Given the description of an element on the screen output the (x, y) to click on. 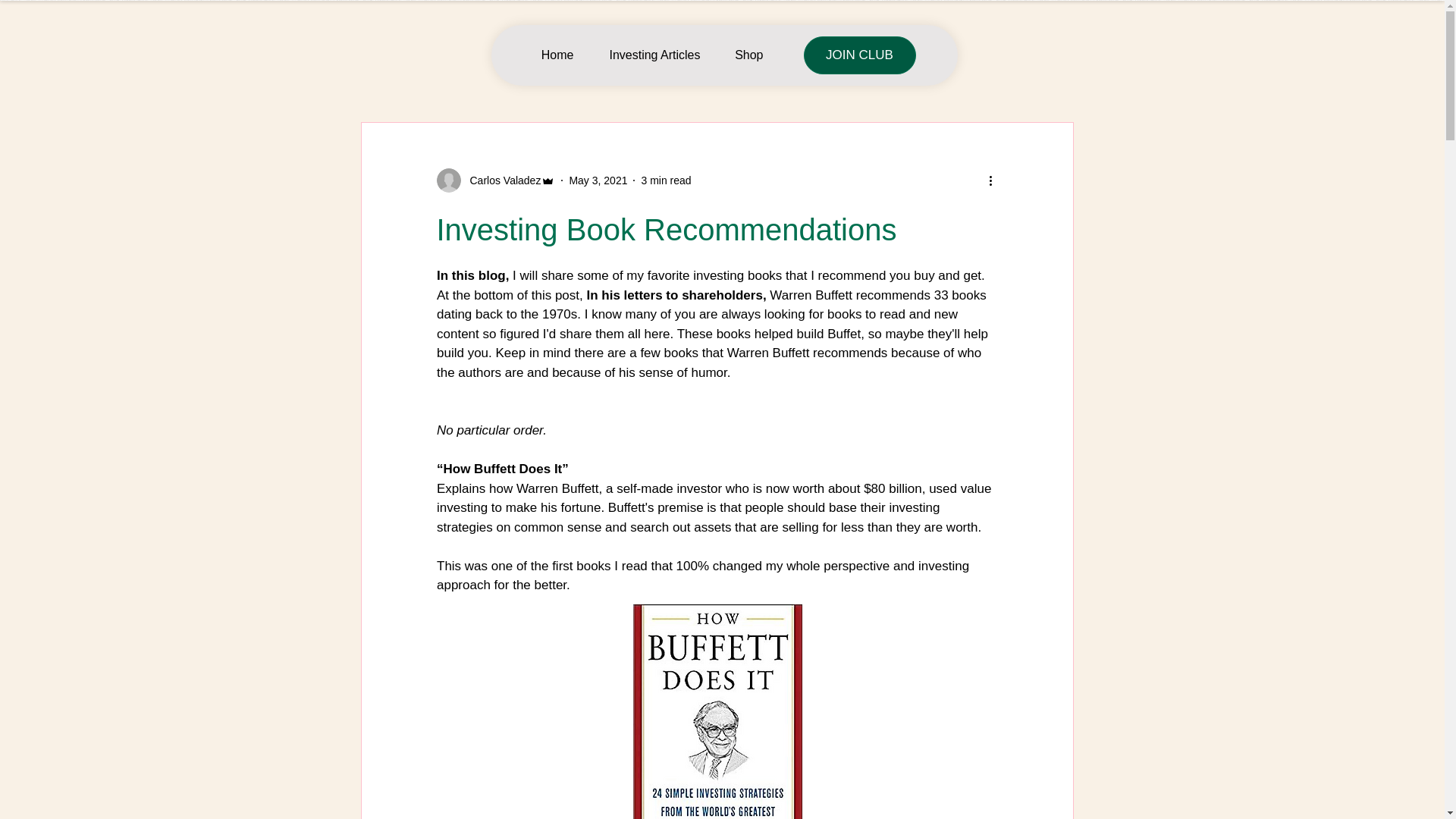
Investing Articles (648, 54)
Carlos Valadez (501, 180)
3 min read (665, 180)
Shop (742, 54)
May 3, 2021 (598, 180)
JOIN CLUB (859, 55)
Home (550, 54)
Carlos Valadez (496, 180)
